Given the description of an element on the screen output the (x, y) to click on. 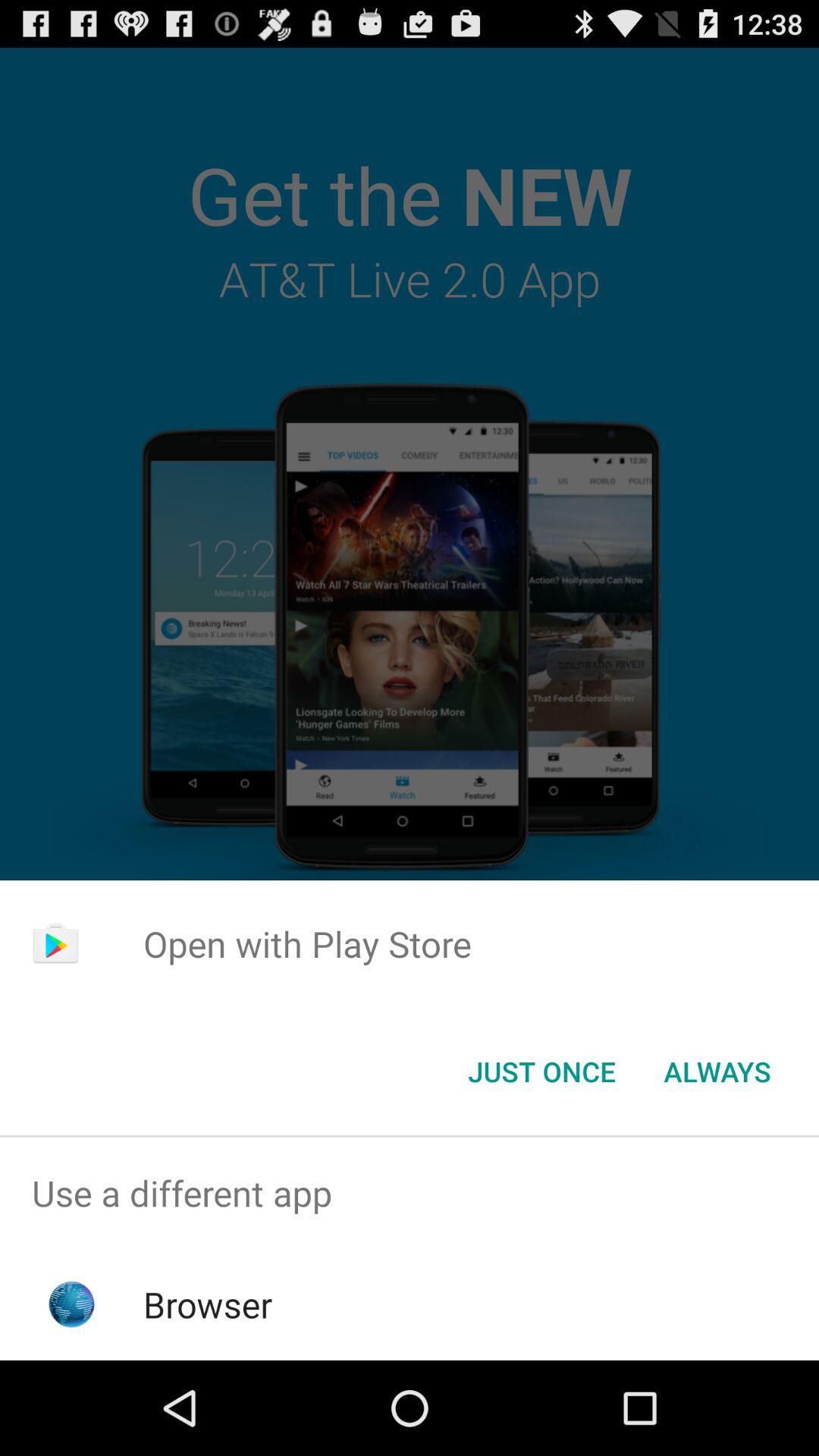
select the icon at the bottom right corner (717, 1071)
